Given the description of an element on the screen output the (x, y) to click on. 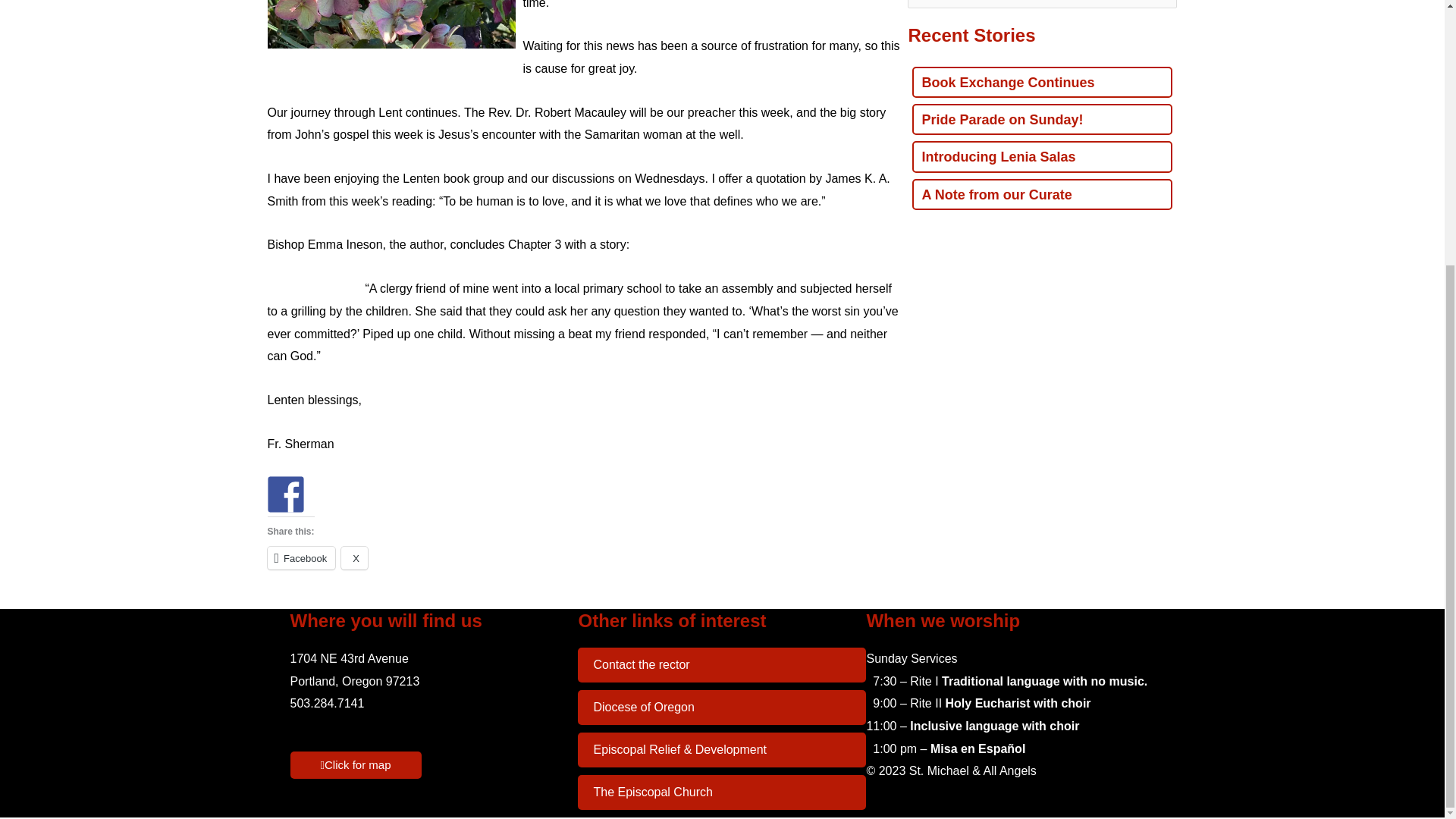
Facebook (300, 558)
X (354, 558)
Search (1159, 8)
Search (1159, 8)
Click to share on Facebook (300, 558)
Click to share on X (354, 558)
Share on Facebook (284, 493)
